Given the description of an element on the screen output the (x, y) to click on. 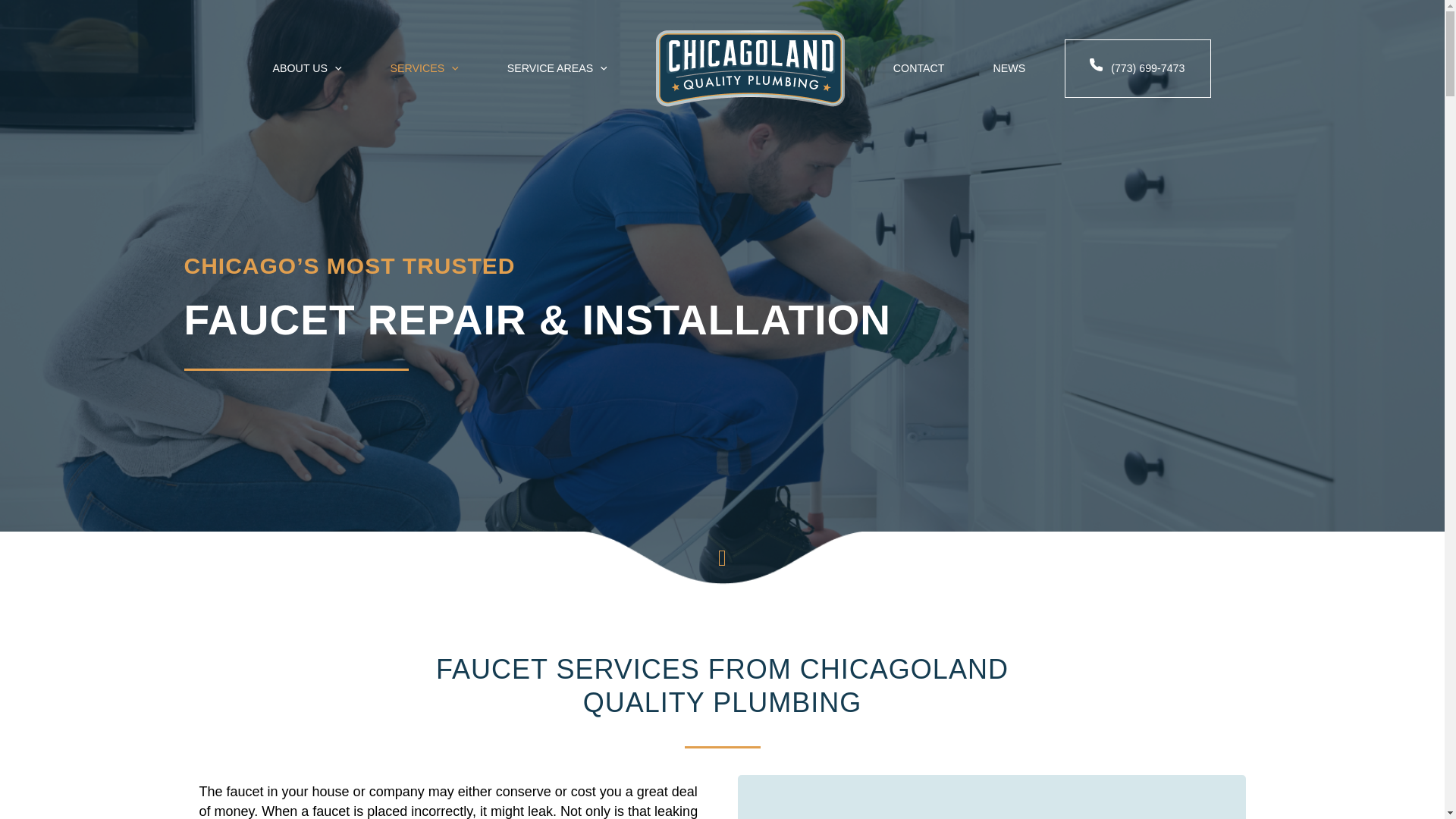
SERVICES (424, 68)
CONTACT (919, 68)
NEWS (1009, 68)
ABOUT US (307, 68)
SERVICE AREAS (557, 68)
